Given the description of an element on the screen output the (x, y) to click on. 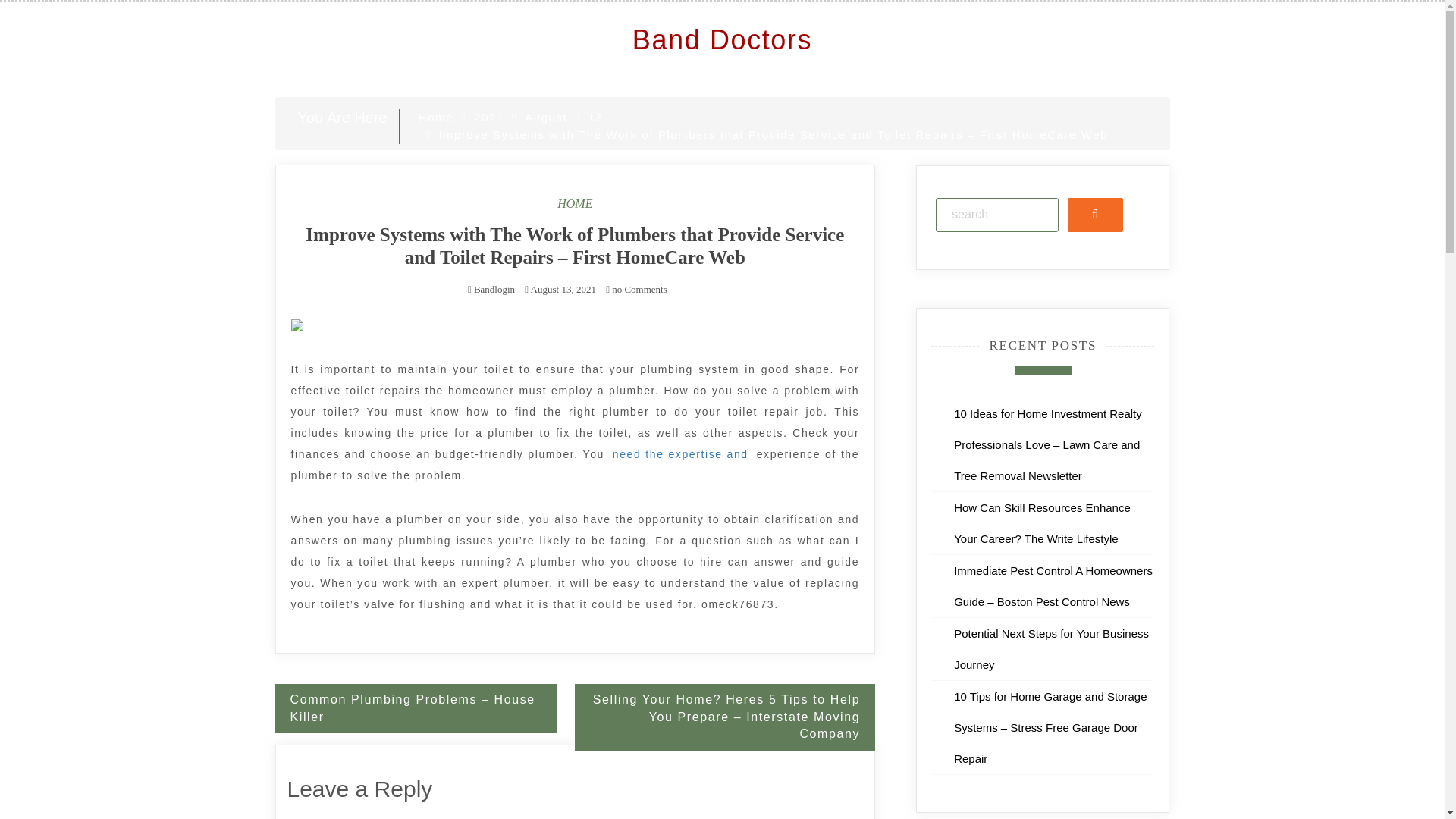
August (545, 116)
no Comments (635, 288)
August 13, 2021 (563, 288)
Search (1094, 214)
Potential Next Steps for Your Business Journey (1050, 648)
13 (596, 116)
Band Doctors (721, 39)
Home (435, 116)
need the expertise and (680, 454)
